Given the description of an element on the screen output the (x, y) to click on. 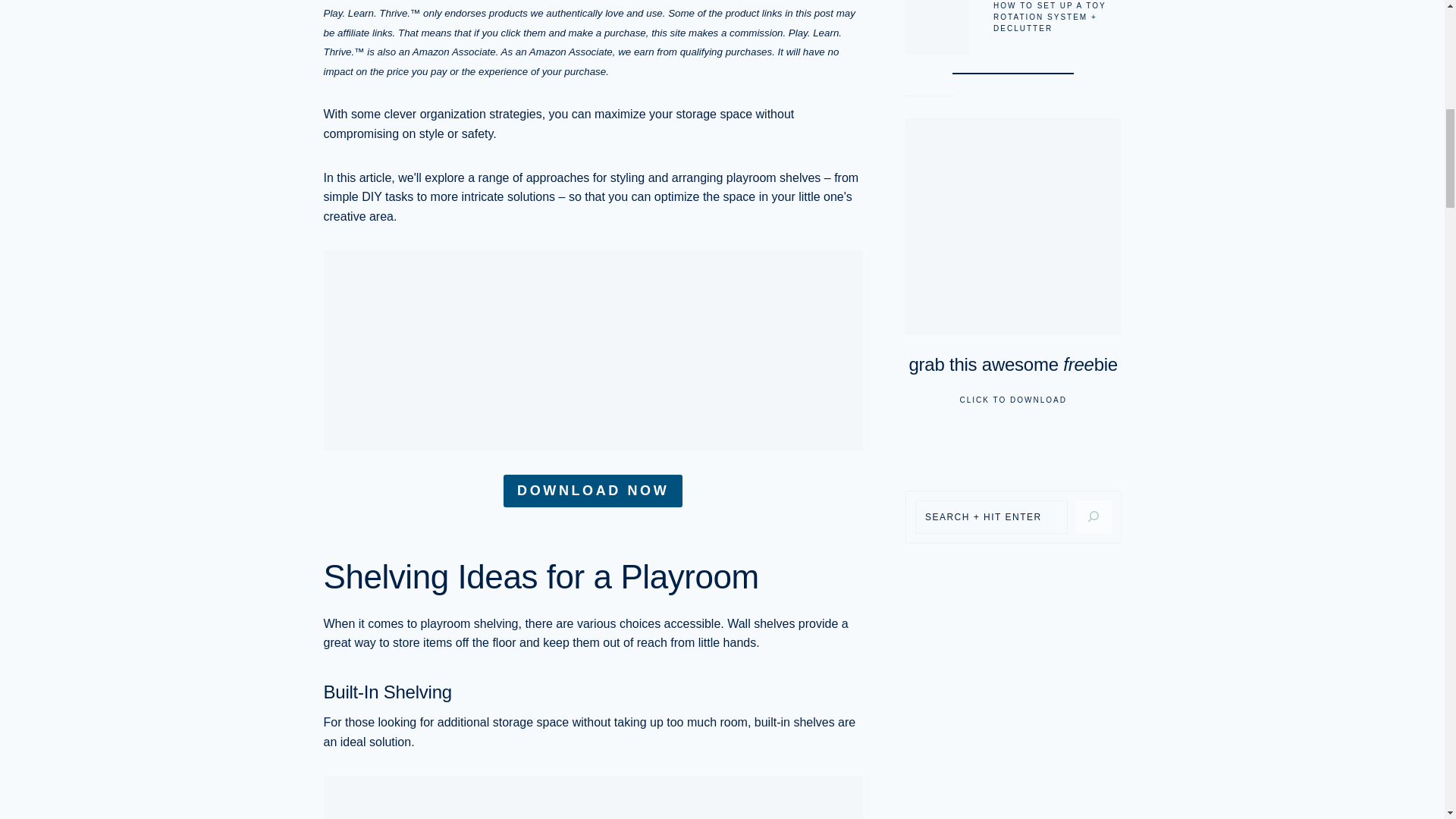
DOWNLOAD NOW (592, 490)
